Given the description of an element on the screen output the (x, y) to click on. 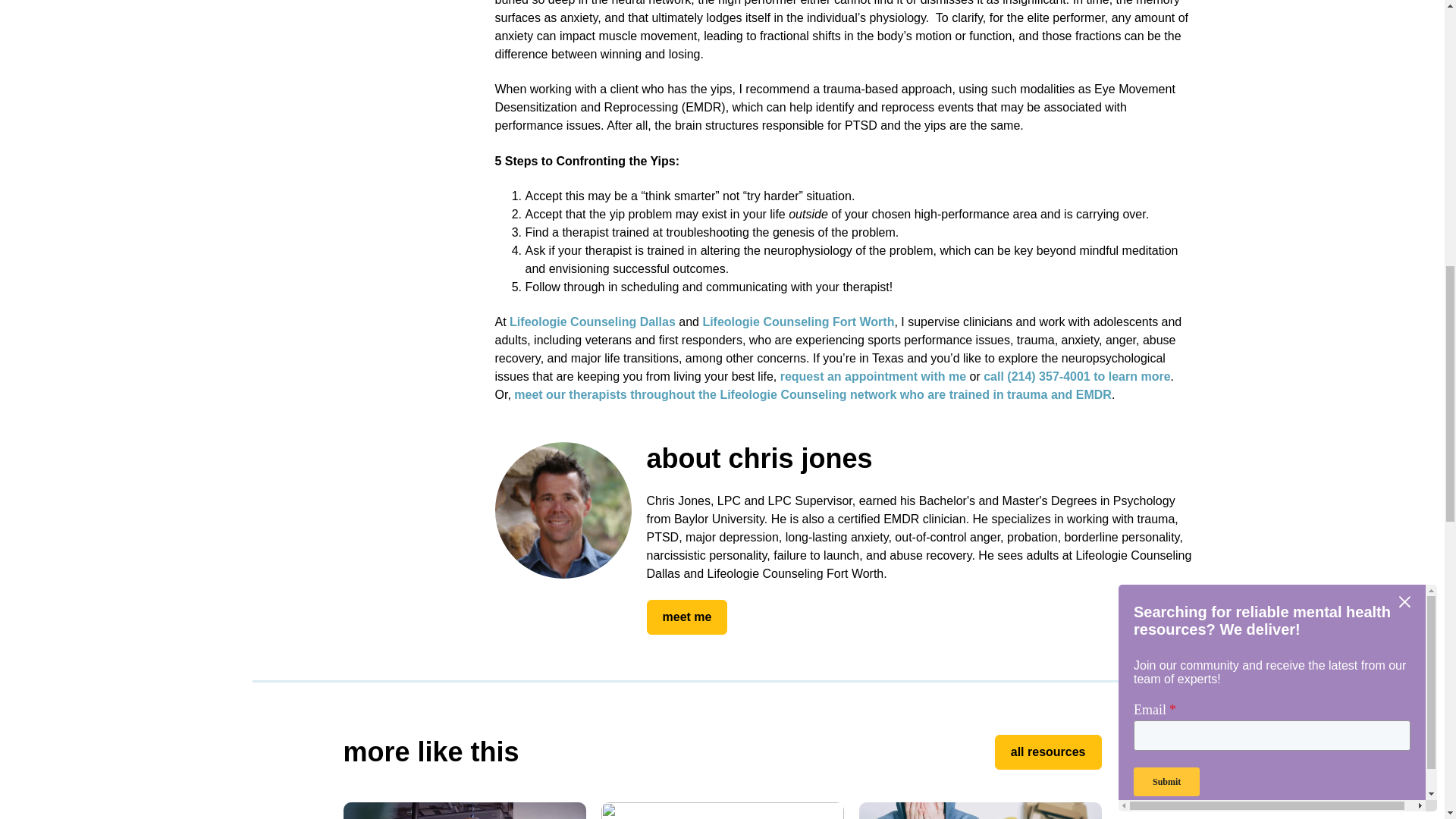
Lifeologie Counseling Fort Worth (797, 321)
meet me (686, 616)
all resources (1048, 751)
Lifeologie Counseling Dallas (592, 321)
request an appointment with me (873, 376)
